Given the description of an element on the screen output the (x, y) to click on. 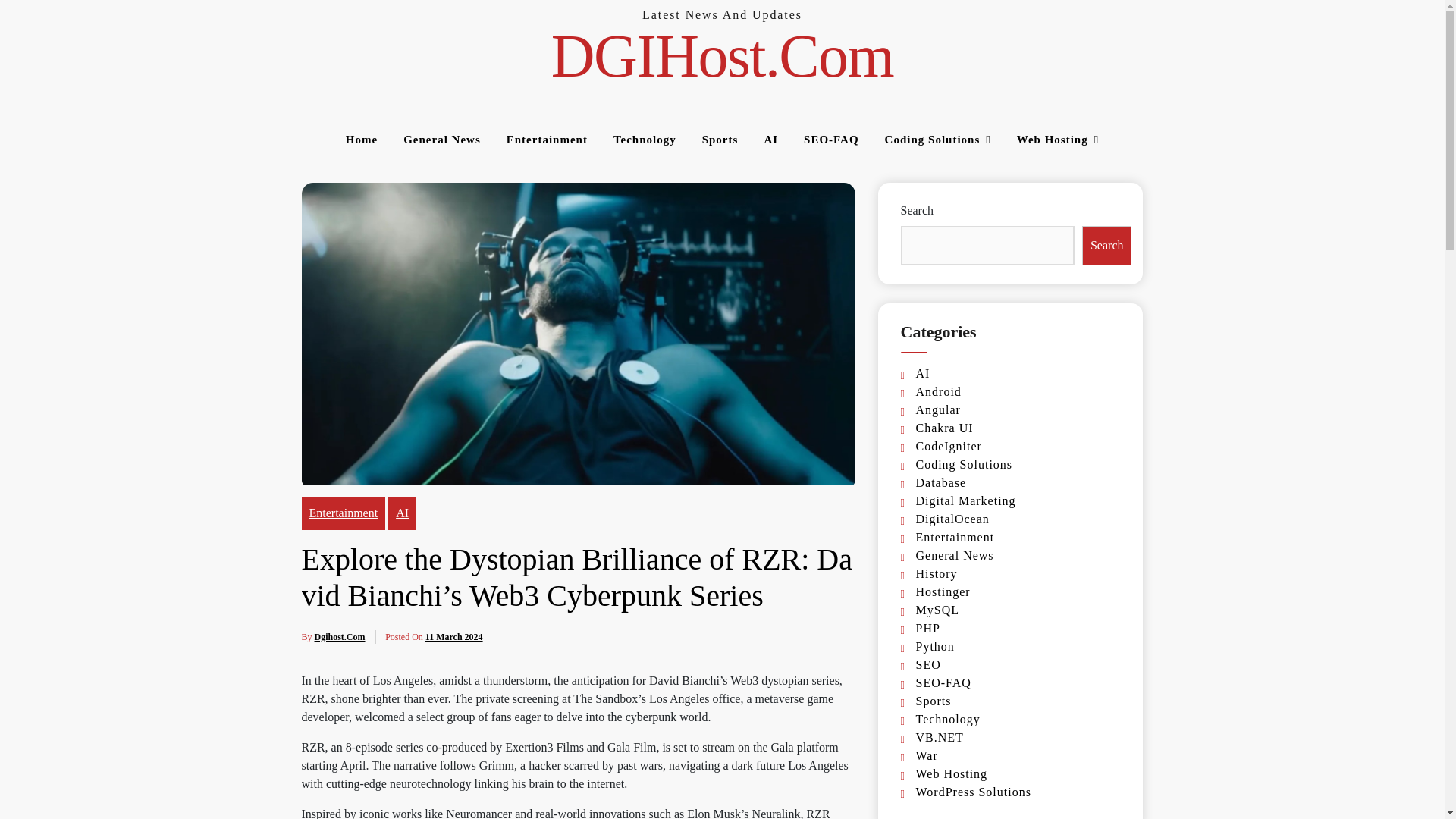
Coding Solutions (938, 139)
AI (402, 512)
11 March 2024 (454, 636)
General News (441, 139)
Sports (719, 139)
AI (770, 139)
DGIHost.Com (722, 55)
Home (361, 139)
Entertainment (546, 139)
Web Hosting (1057, 139)
Entertainment (343, 512)
Technology (644, 139)
SEO-FAQ (831, 139)
Dgihost.Com (339, 636)
